Given the description of an element on the screen output the (x, y) to click on. 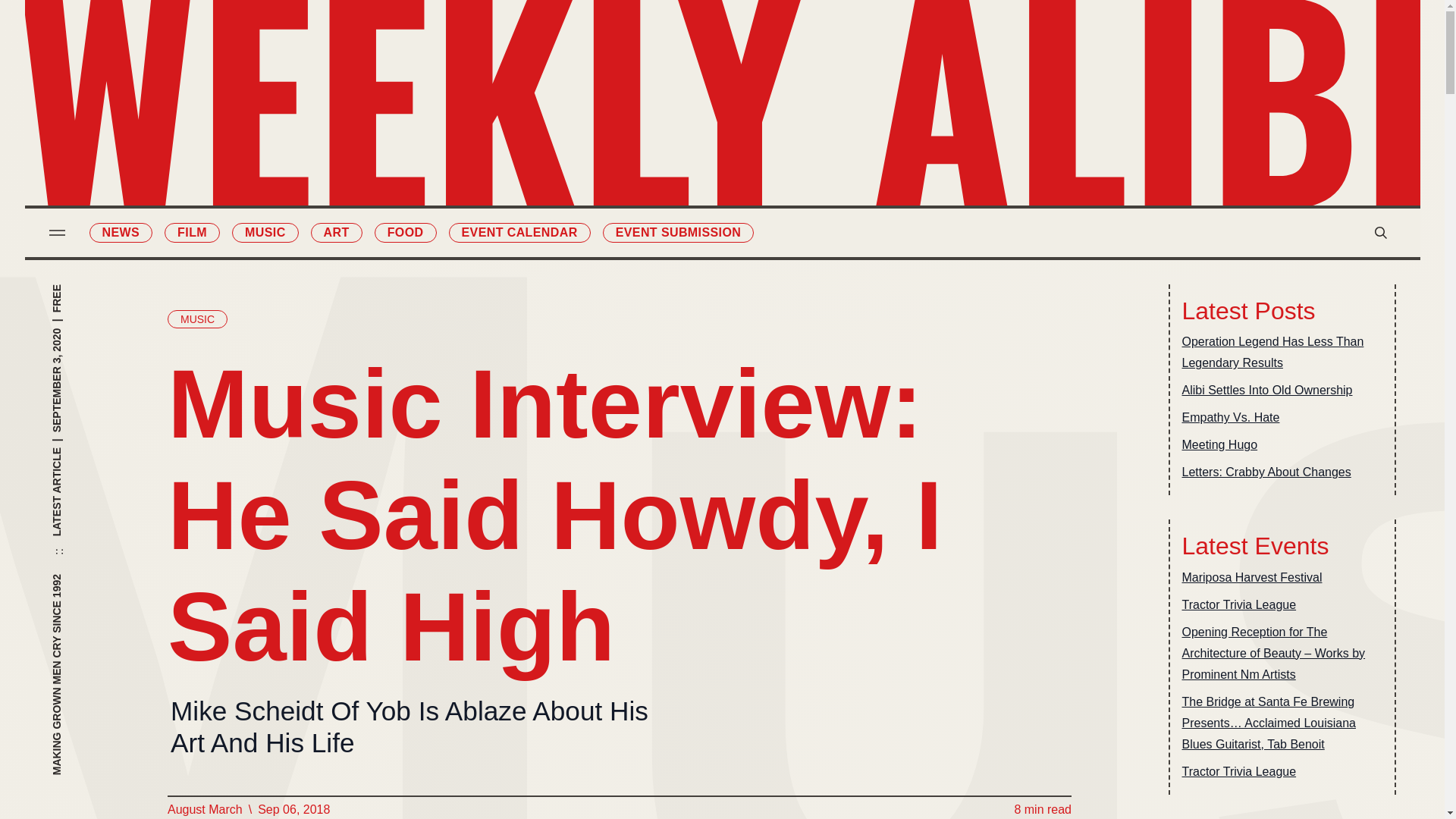
MUSIC (197, 319)
EVENT CALENDAR (519, 232)
ART (336, 232)
NEWS (120, 232)
MUSIC (264, 232)
FOOD (405, 232)
EVENT SUBMISSION (678, 232)
FILM (191, 232)
August March (204, 809)
